Given the description of an element on the screen output the (x, y) to click on. 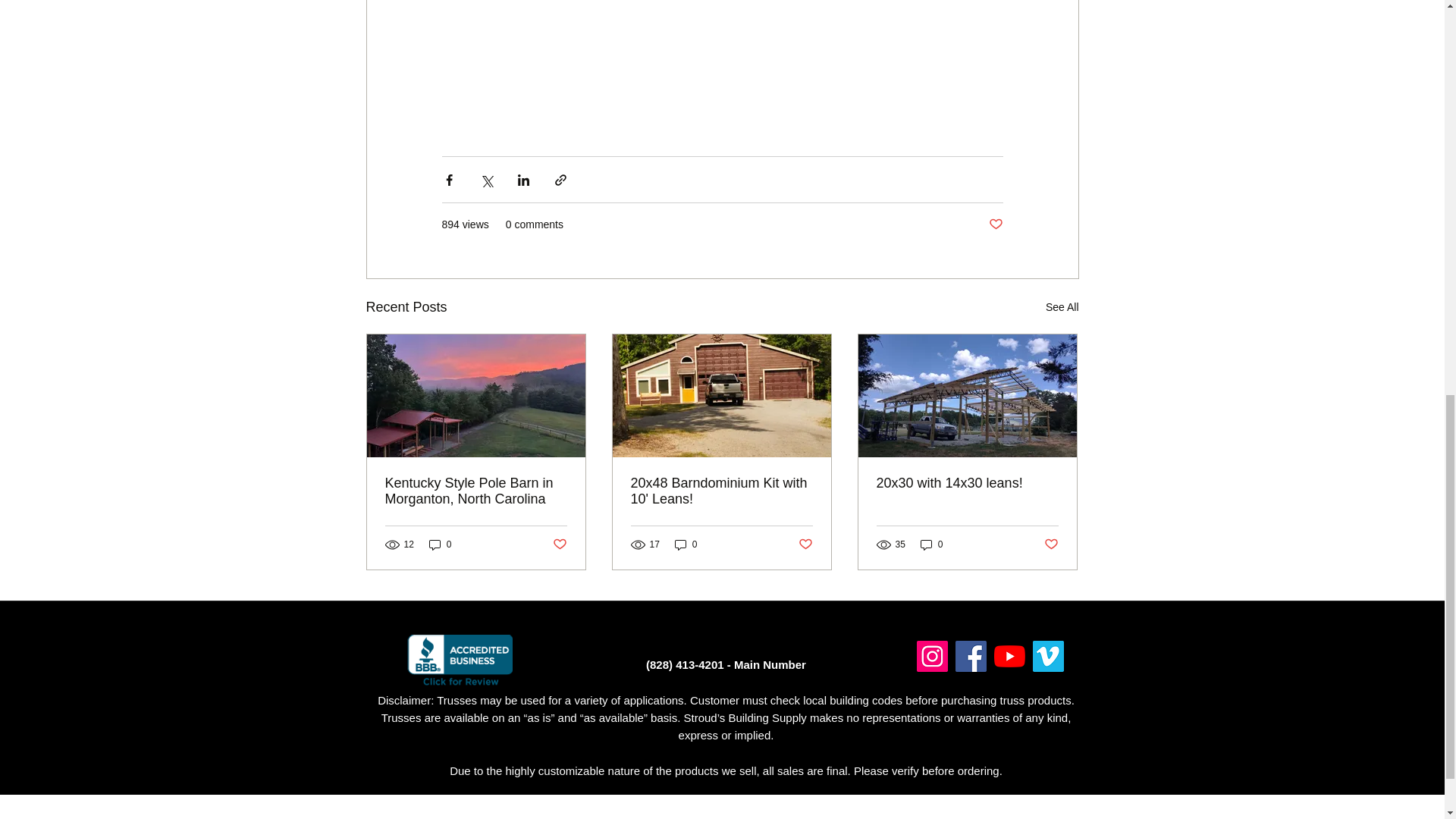
Kentucky Style Pole Barn in Morganton, North Carolina (476, 490)
See All (1061, 307)
Post not marked as liked (995, 224)
Post not marked as liked (558, 544)
0 (685, 544)
20x48 Barndominium Kit with 10' Leans! (721, 490)
0 (931, 544)
20x30 with 14x30 leans! (967, 483)
Post not marked as liked (1050, 544)
0 (440, 544)
